Given the description of an element on the screen output the (x, y) to click on. 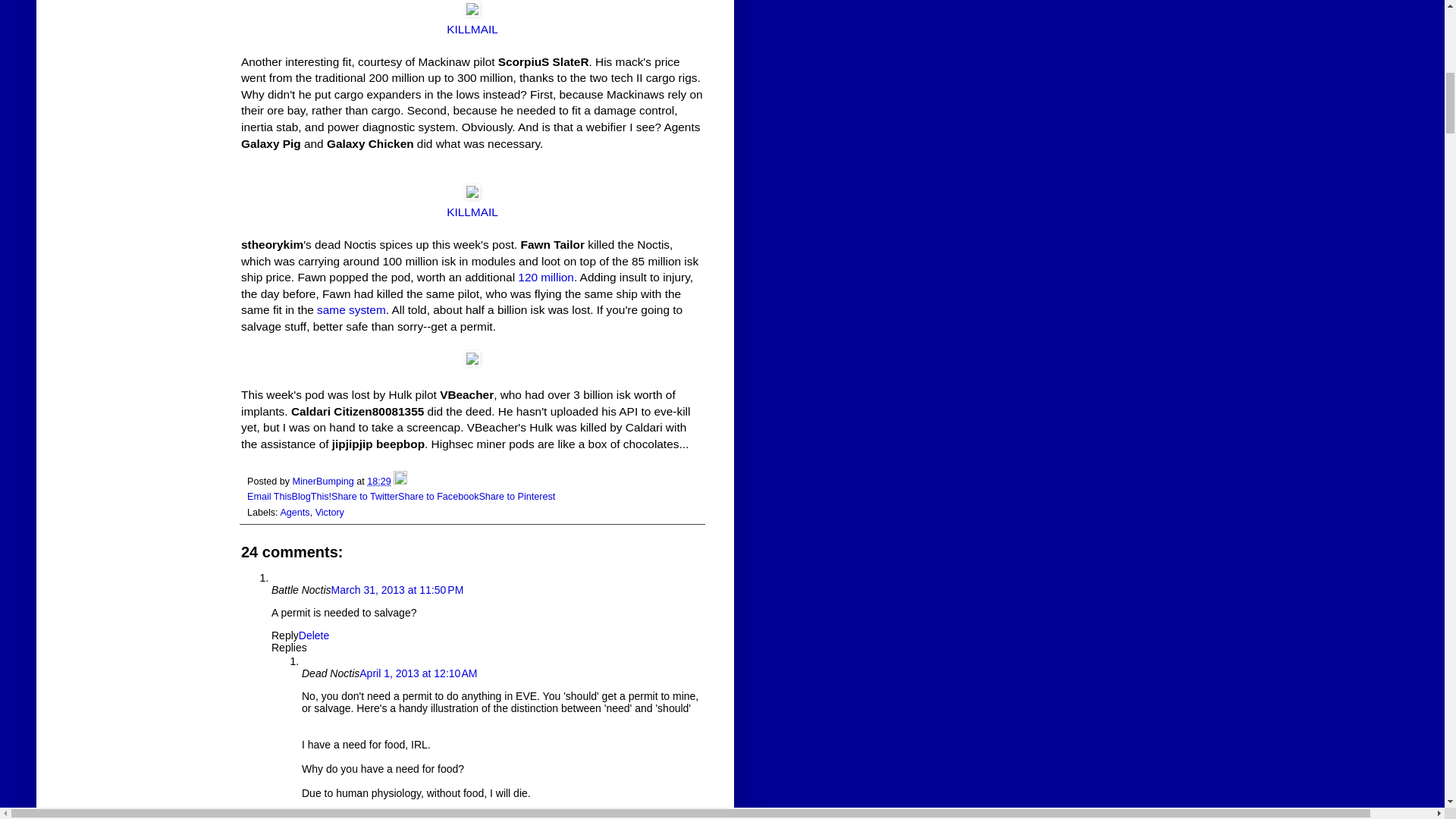
Replies (288, 647)
permanent link (378, 480)
MinerBumping (324, 480)
Share to Twitter (364, 496)
BlogThis! (311, 496)
KILLMAIL (471, 29)
Share to Pinterest (516, 496)
Agents (293, 511)
Share to Facebook (438, 496)
Share to Facebook (438, 496)
18:29 (378, 480)
Edit Post (400, 480)
Reply (284, 635)
